Given the description of an element on the screen output the (x, y) to click on. 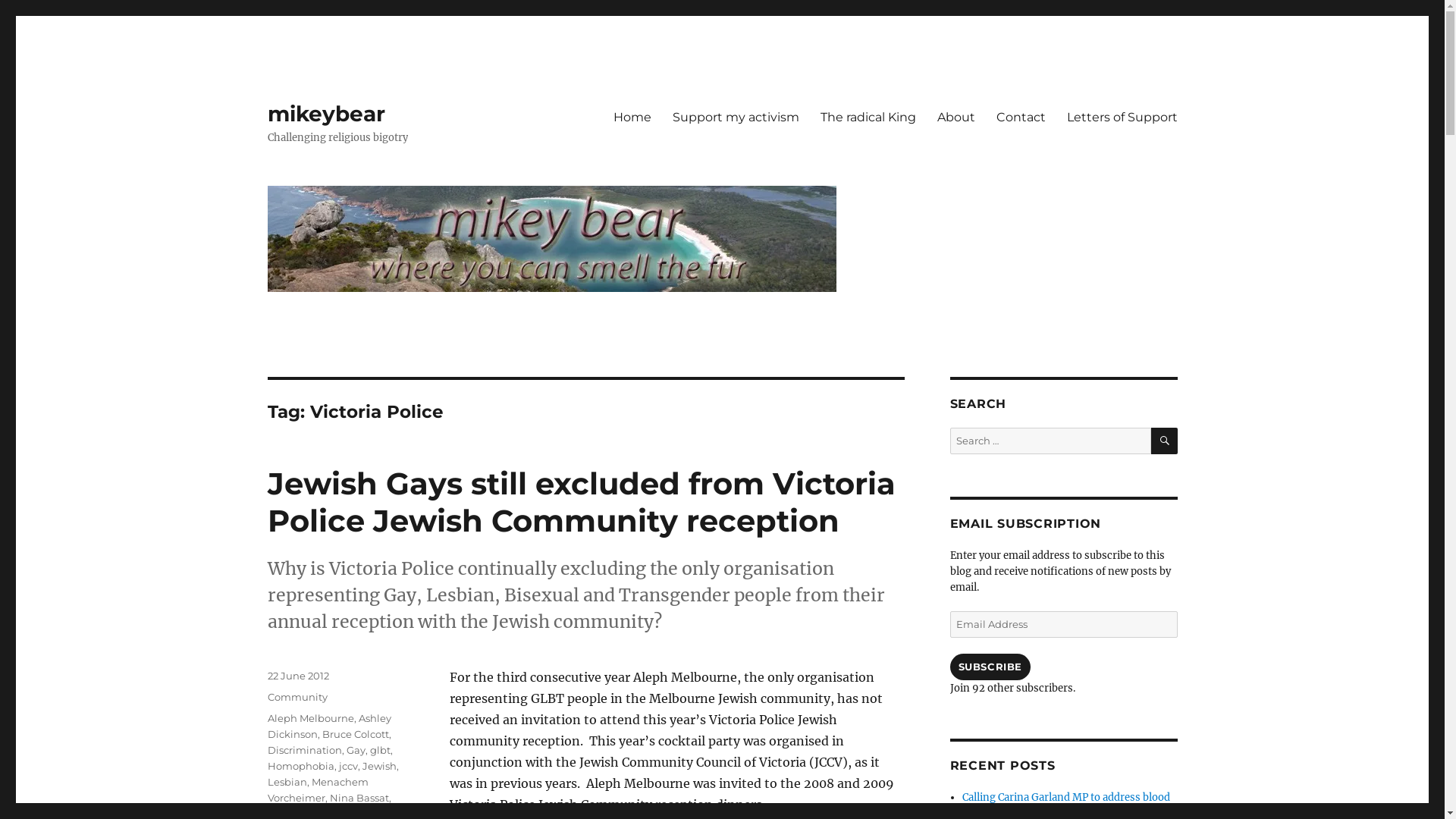
Lesbian Element type: text (286, 781)
Bruce Colcott Element type: text (354, 734)
mikeybear Element type: text (325, 113)
Nina Bassat Element type: text (358, 797)
Ashley Dickinson Element type: text (328, 726)
Letters of Support Element type: text (1121, 116)
Discrimination Element type: text (303, 749)
The radical King Element type: text (867, 116)
Contact Element type: text (1020, 116)
Home Element type: text (631, 116)
jccv Element type: text (347, 765)
SUBSCRIBE Element type: text (989, 666)
Menachem Vorcheimer Element type: text (316, 789)
22 June 2012 Element type: text (297, 675)
About Element type: text (955, 116)
Support my activism Element type: text (735, 116)
Aleph Melbourne Element type: text (309, 718)
Homophobia Element type: text (299, 765)
Community Element type: text (296, 696)
glbt Element type: text (380, 749)
Gay Element type: text (354, 749)
Jewish Element type: text (379, 765)
SEARCH Element type: text (1164, 440)
